Given the description of an element on the screen output the (x, y) to click on. 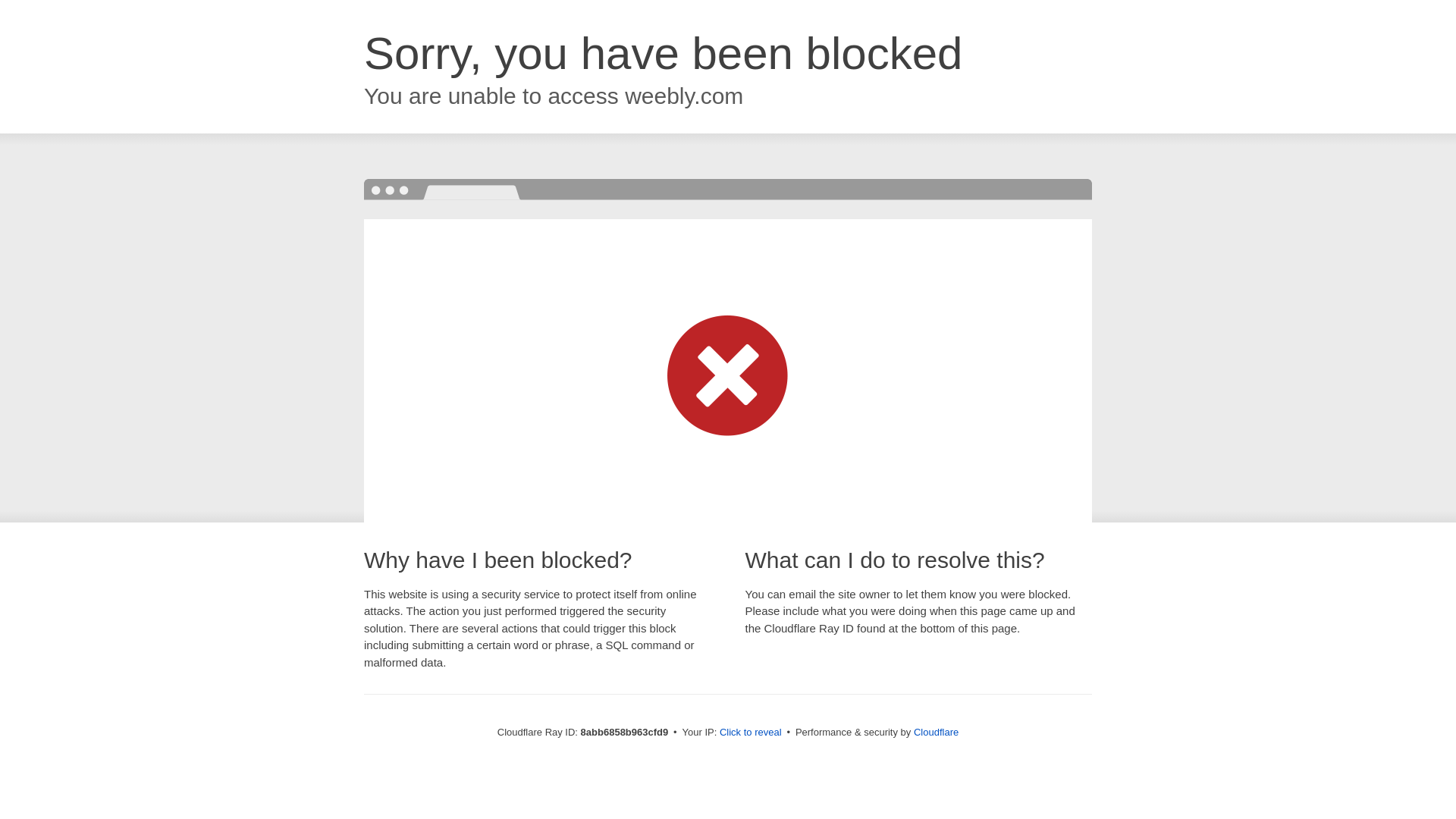
Cloudflare (936, 731)
Click to reveal (750, 732)
